Given the description of an element on the screen output the (x, y) to click on. 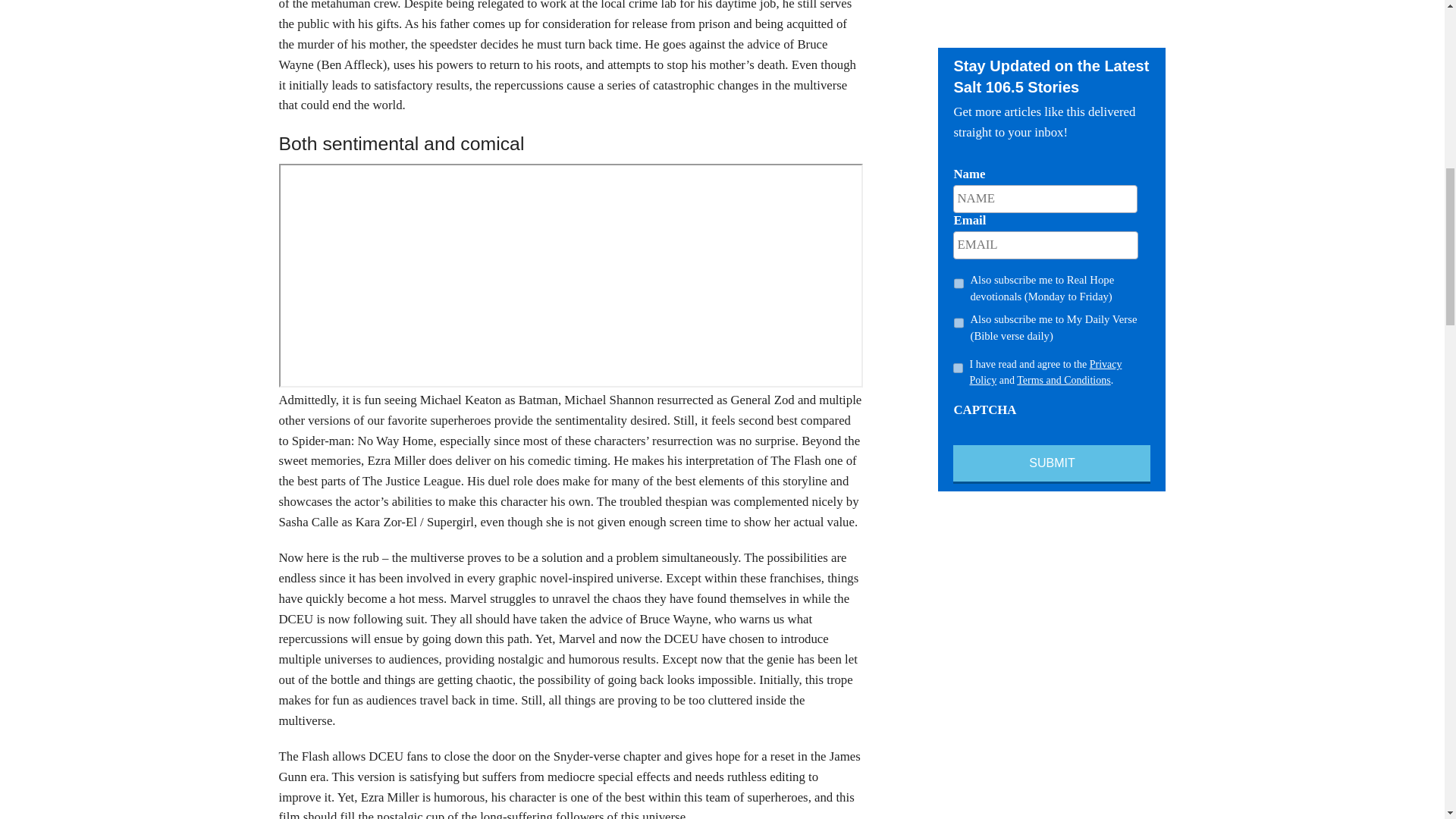
3rd party ad content (1051, 18)
Submit (1051, 464)
